Given the description of an element on the screen output the (x, y) to click on. 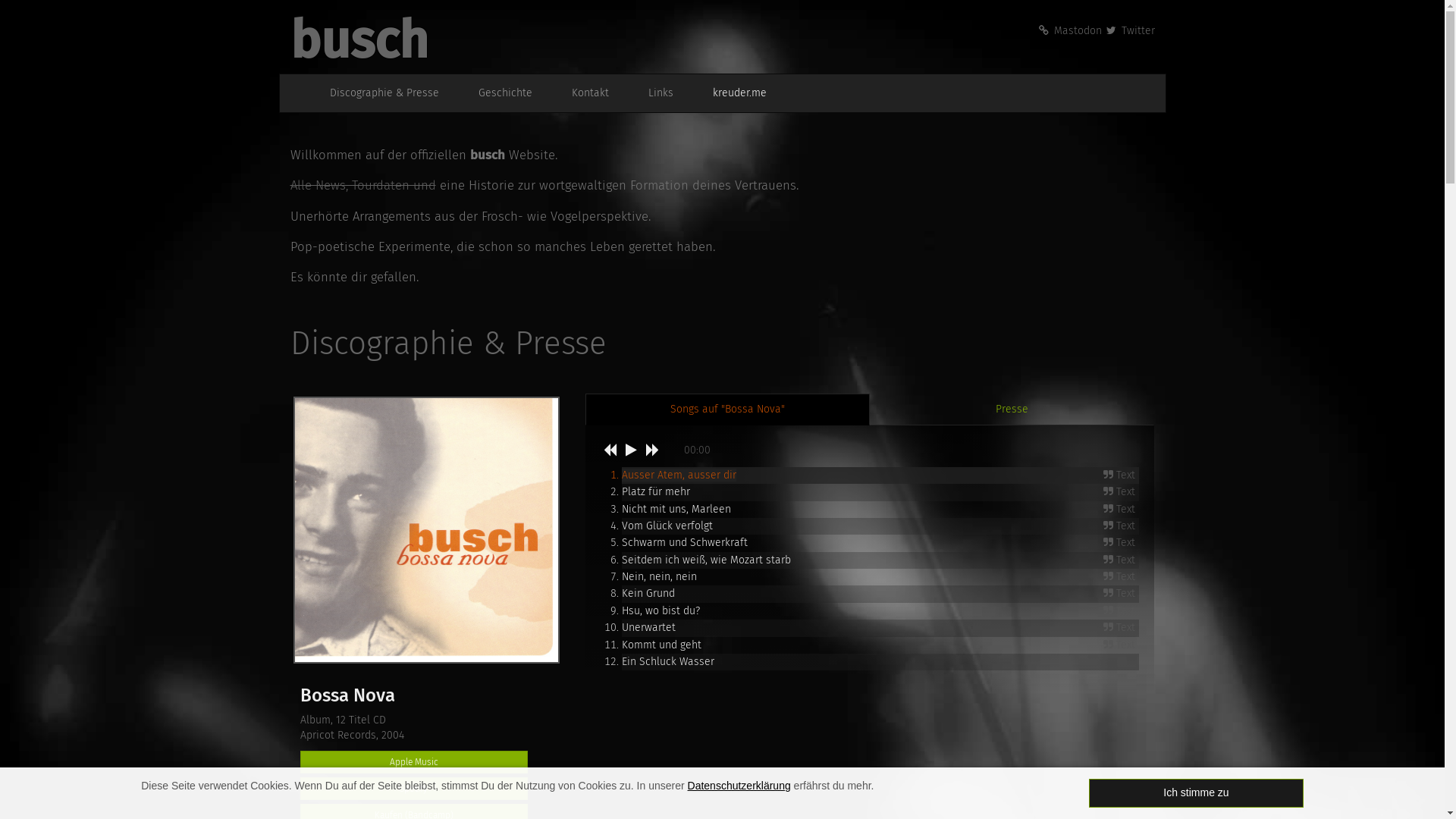
Schwarm und Schwerkraft Element type: text (684, 542)
Presse Element type: text (1011, 409)
Hsu, wo bist du? Element type: text (660, 610)
Geschichte Element type: text (496, 93)
Ausser Atem, ausser dir Element type: text (678, 474)
kreuder.me Element type: text (731, 93)
Text Element type: text (1121, 593)
Text Element type: text (1121, 576)
Ein Schluck Wasser Element type: text (667, 661)
Apple Music Element type: text (413, 761)
Text Element type: text (1121, 542)
Kein Grund Element type: text (647, 592)
Links Element type: text (652, 93)
Songs auf "Bossa Nova" Element type: text (727, 409)
Kontakt Element type: text (581, 93)
Kommt und geht Element type: text (661, 644)
Mastodon Element type: text (1069, 30)
Discographie & Presse Element type: text (375, 93)
Text Element type: text (1121, 525)
Text Element type: text (1121, 491)
Text Element type: text (1121, 610)
Text Element type: text (1121, 645)
Text Element type: text (1121, 475)
Nein, nein, nein Element type: text (658, 576)
Text Element type: text (1121, 508)
Text Element type: text (1121, 560)
Nicht mit uns, Marleen Element type: text (676, 508)
Spotify Element type: text (413, 788)
Ich stimme zu Element type: text (1195, 792)
Unerwartet Element type: text (648, 627)
Text Element type: text (1121, 627)
Twitter Element type: text (1129, 30)
